Given the description of an element on the screen output the (x, y) to click on. 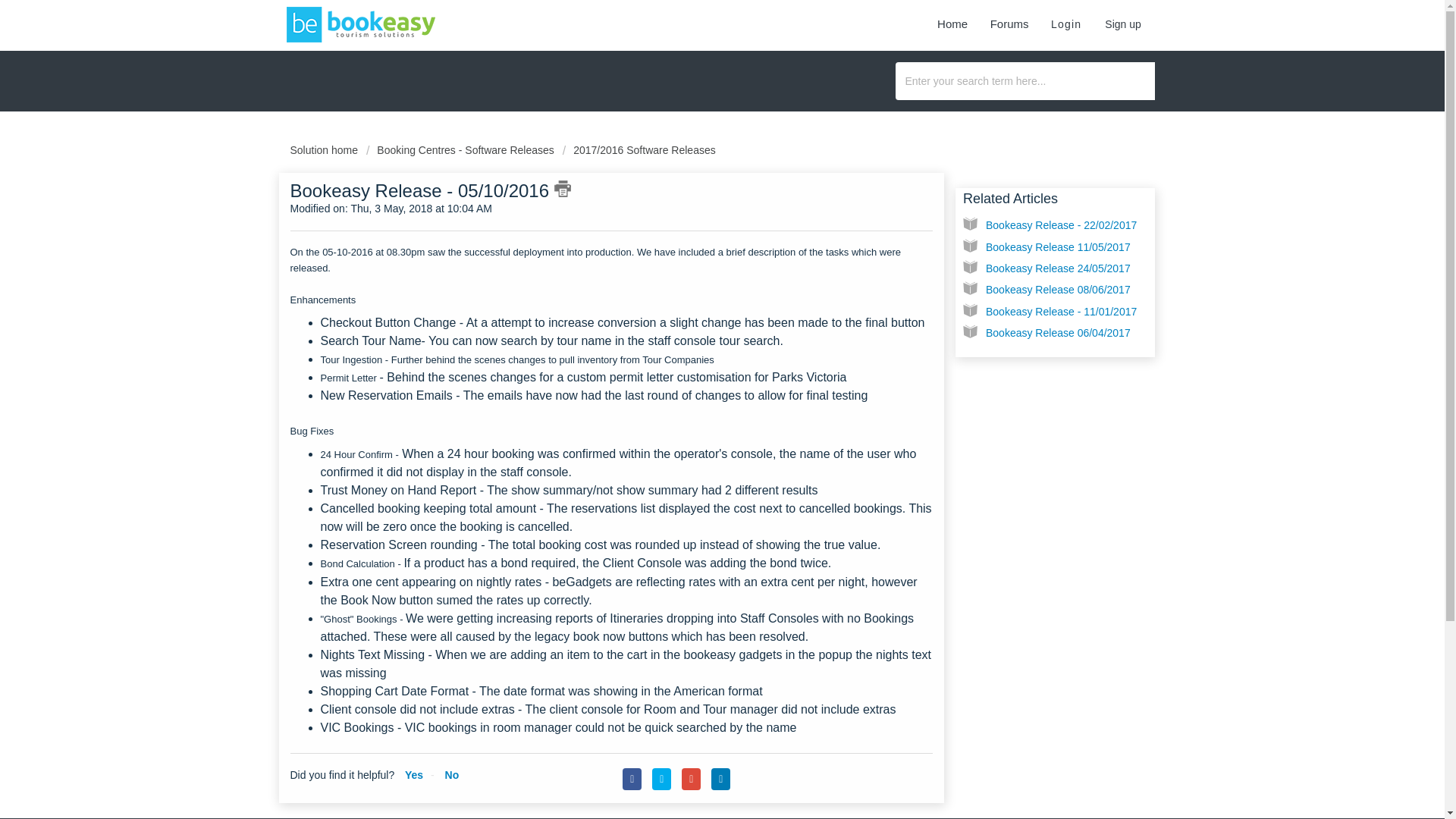
Sign up (1122, 21)
Forums (1009, 20)
Print this Article (562, 188)
Home (952, 20)
Booking Centres - Software Releases (460, 150)
Login (1066, 21)
Solution home (324, 150)
